Given the description of an element on the screen output the (x, y) to click on. 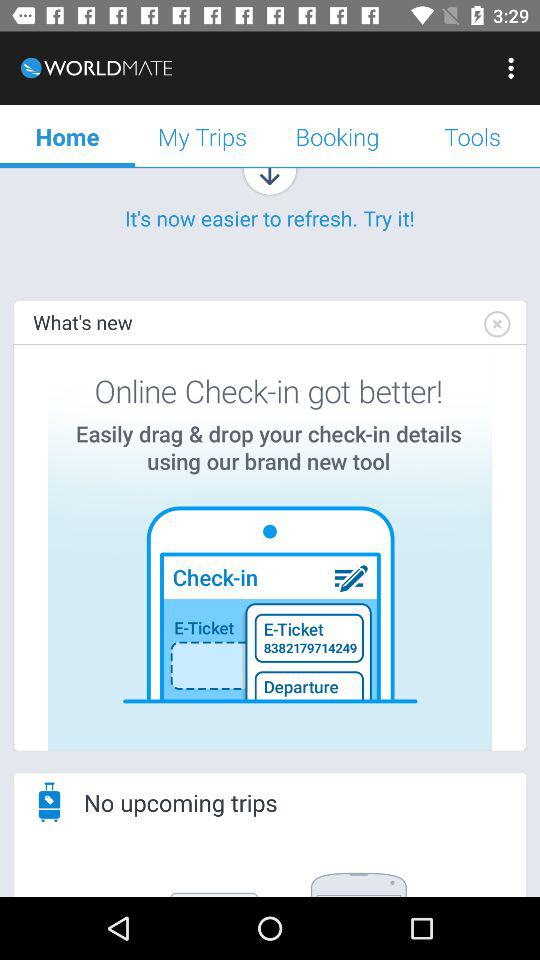
click the item to the right of what's new icon (496, 323)
